Given the description of an element on the screen output the (x, y) to click on. 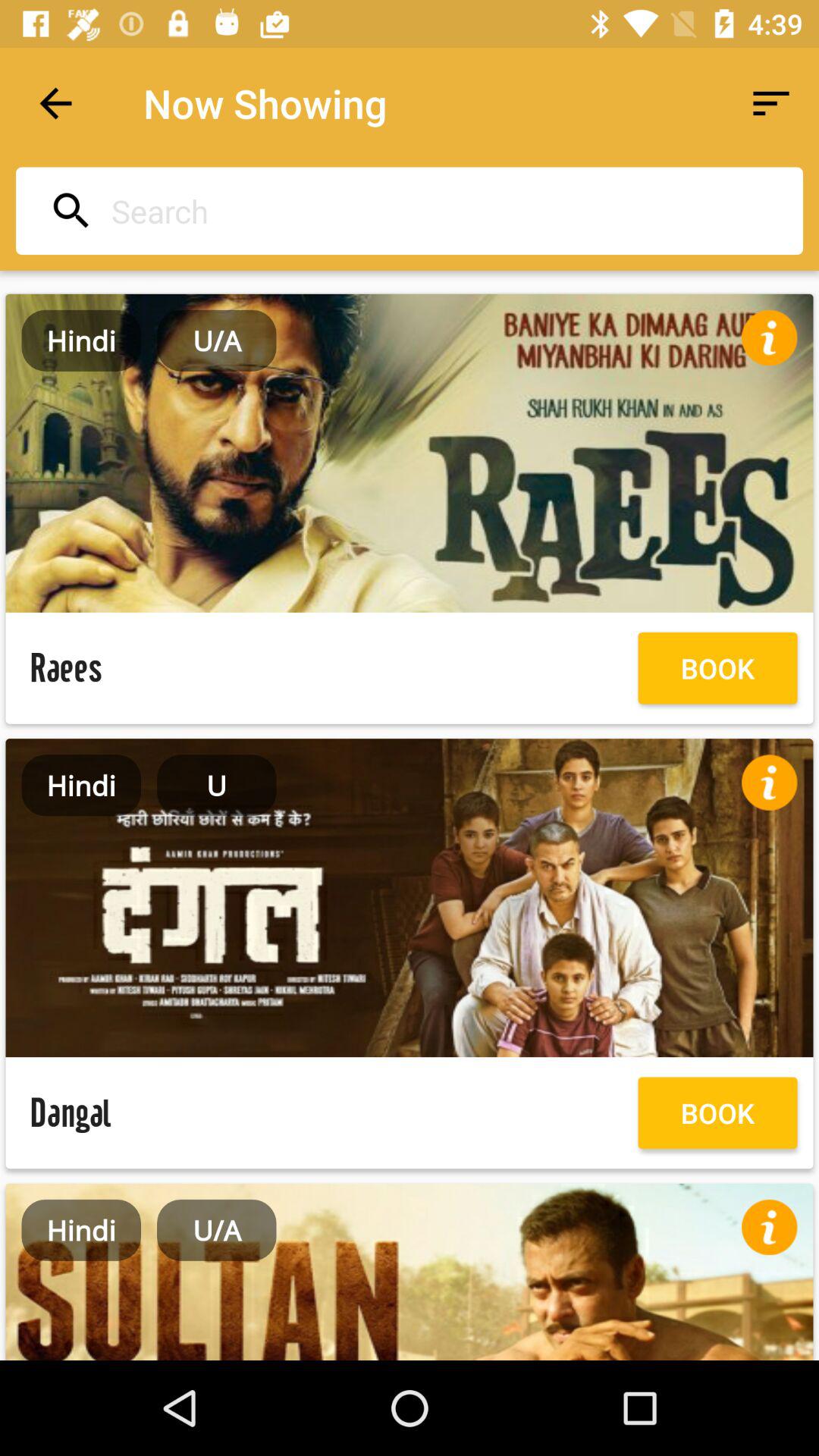
open search bar (405, 210)
